Given the description of an element on the screen output the (x, y) to click on. 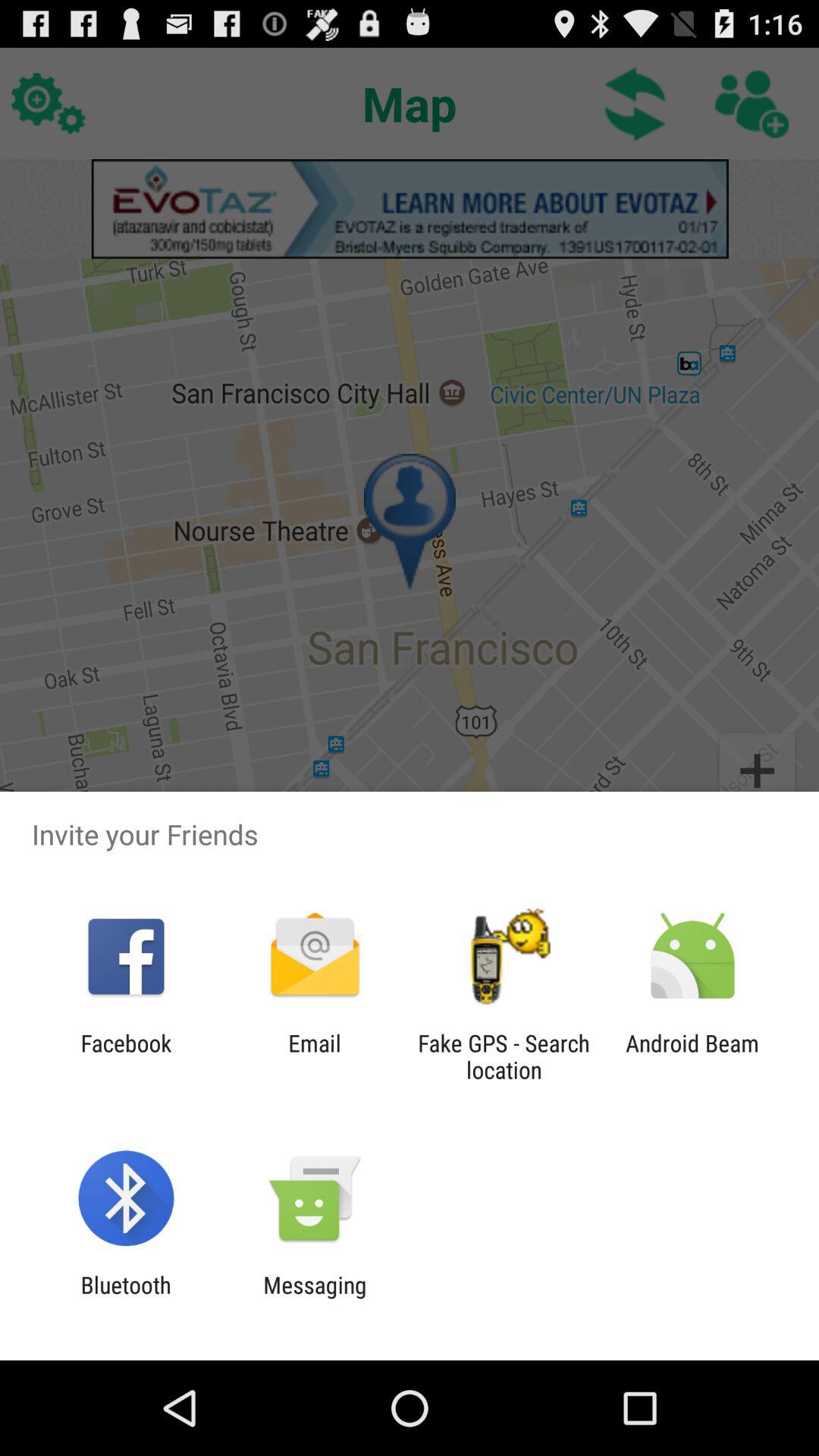
tap icon to the right of the email (503, 1056)
